Given the description of an element on the screen output the (x, y) to click on. 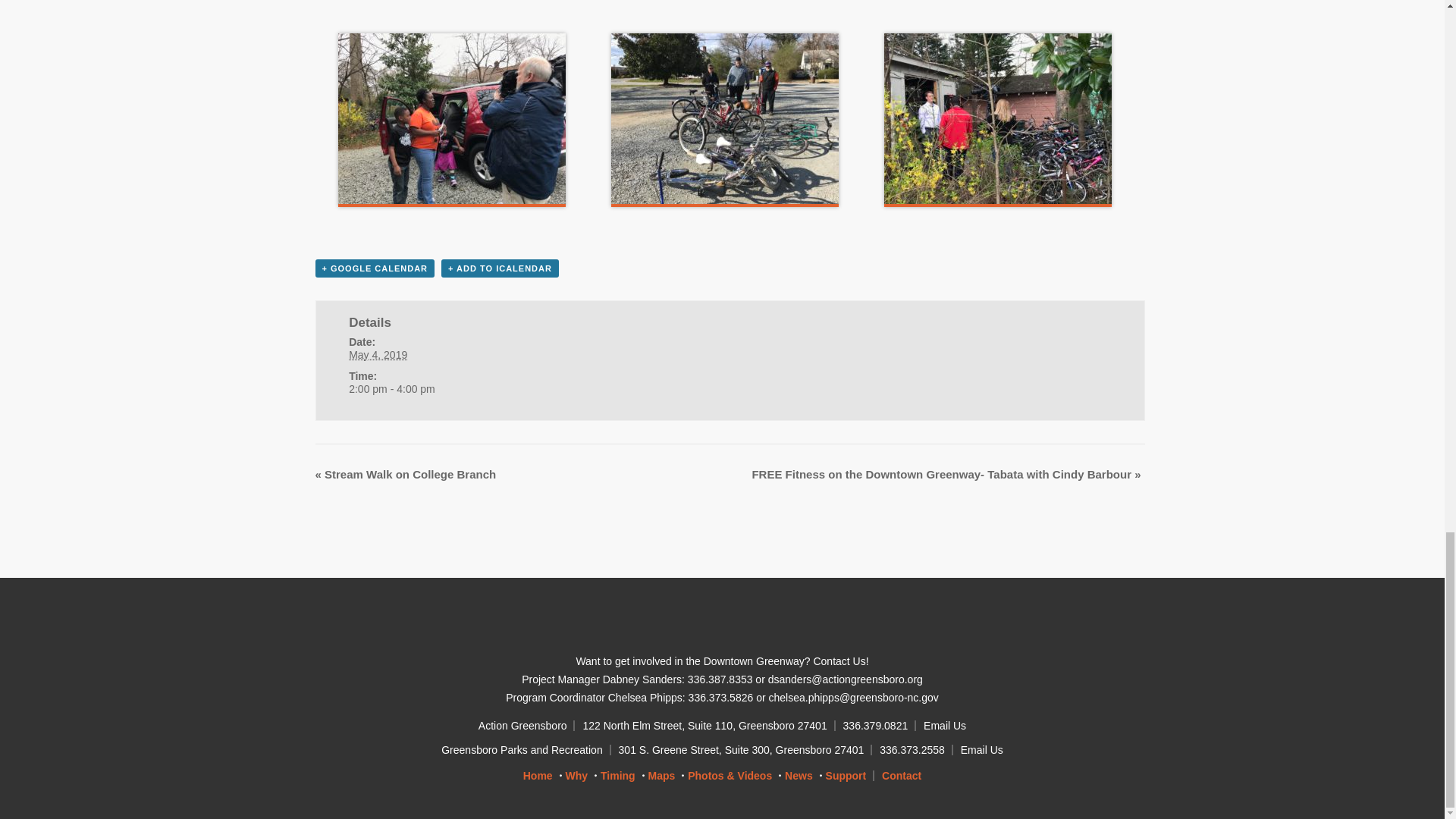
2019-05-04 (454, 389)
Add to Google Calendar (375, 268)
2019-05-04 (378, 354)
Download .ics file (500, 268)
